Given the description of an element on the screen output the (x, y) to click on. 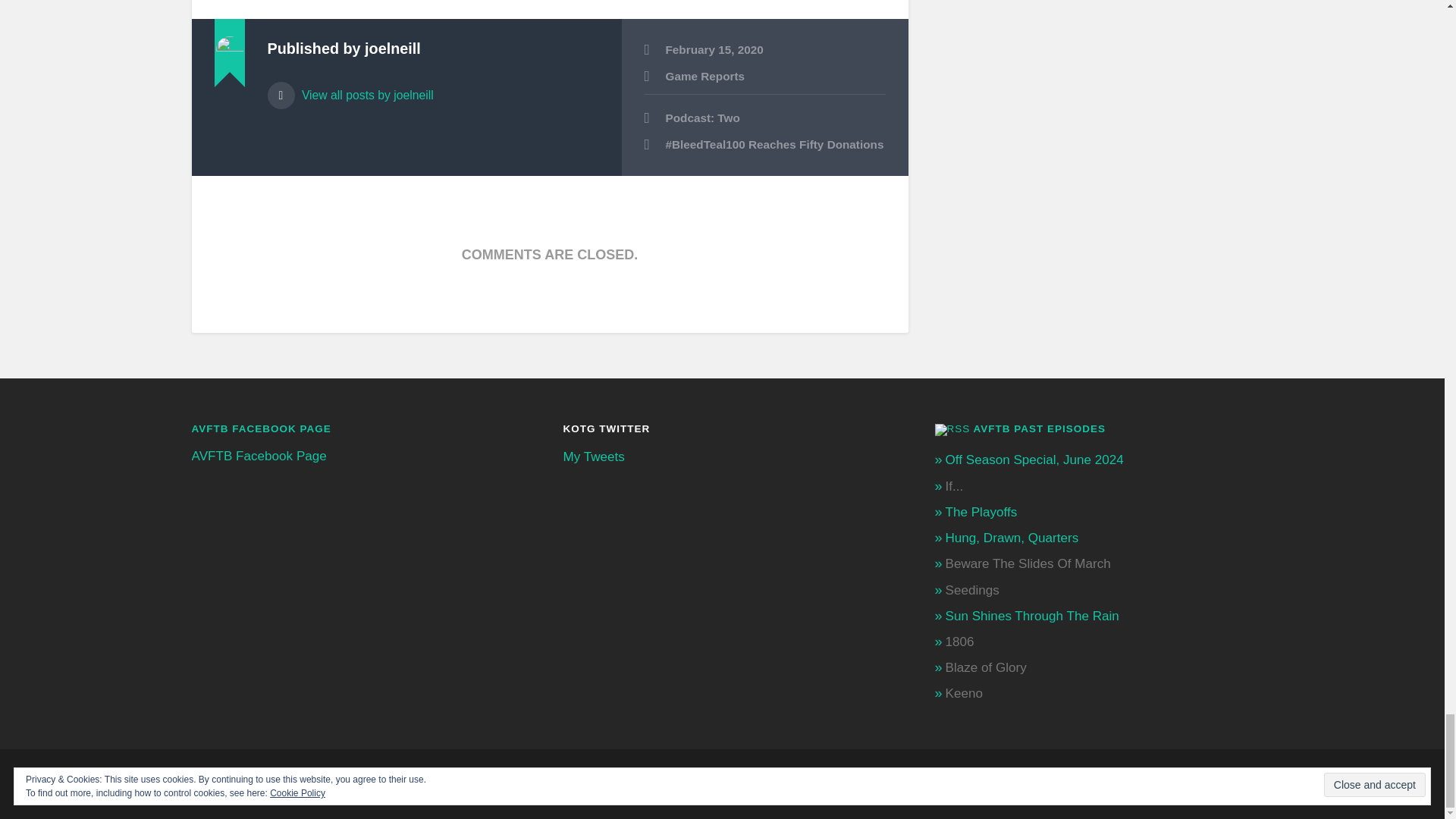
To the top (1240, 783)
Game Reports (705, 75)
Podcast: Two (765, 118)
View all posts by joelneill (432, 87)
